Given the description of an element on the screen output the (x, y) to click on. 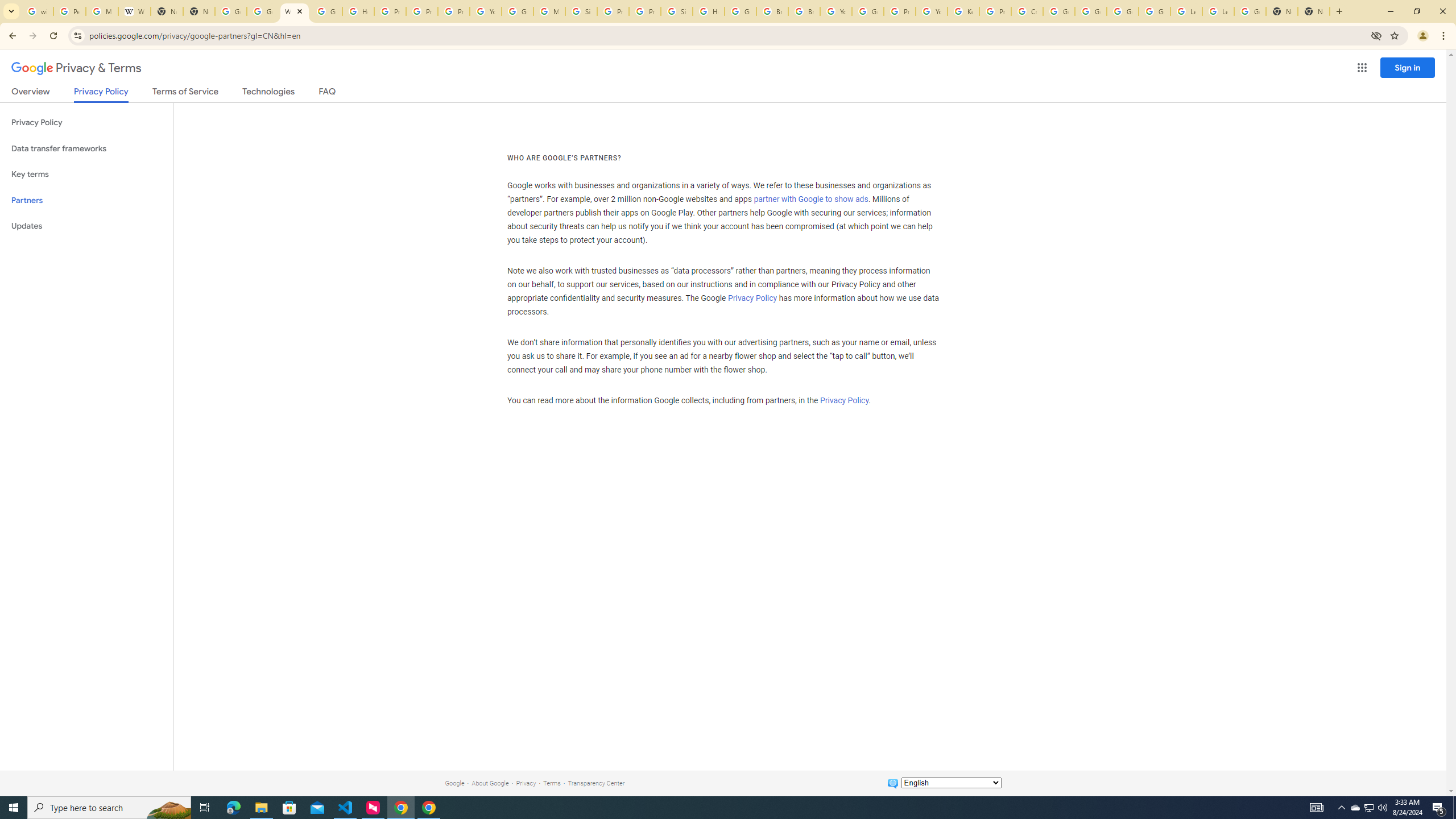
Google Account Help (517, 11)
partner with Google to show ads (810, 199)
Google Account Help (1059, 11)
Create your Google Account (1027, 11)
